Given the description of an element on the screen output the (x, y) to click on. 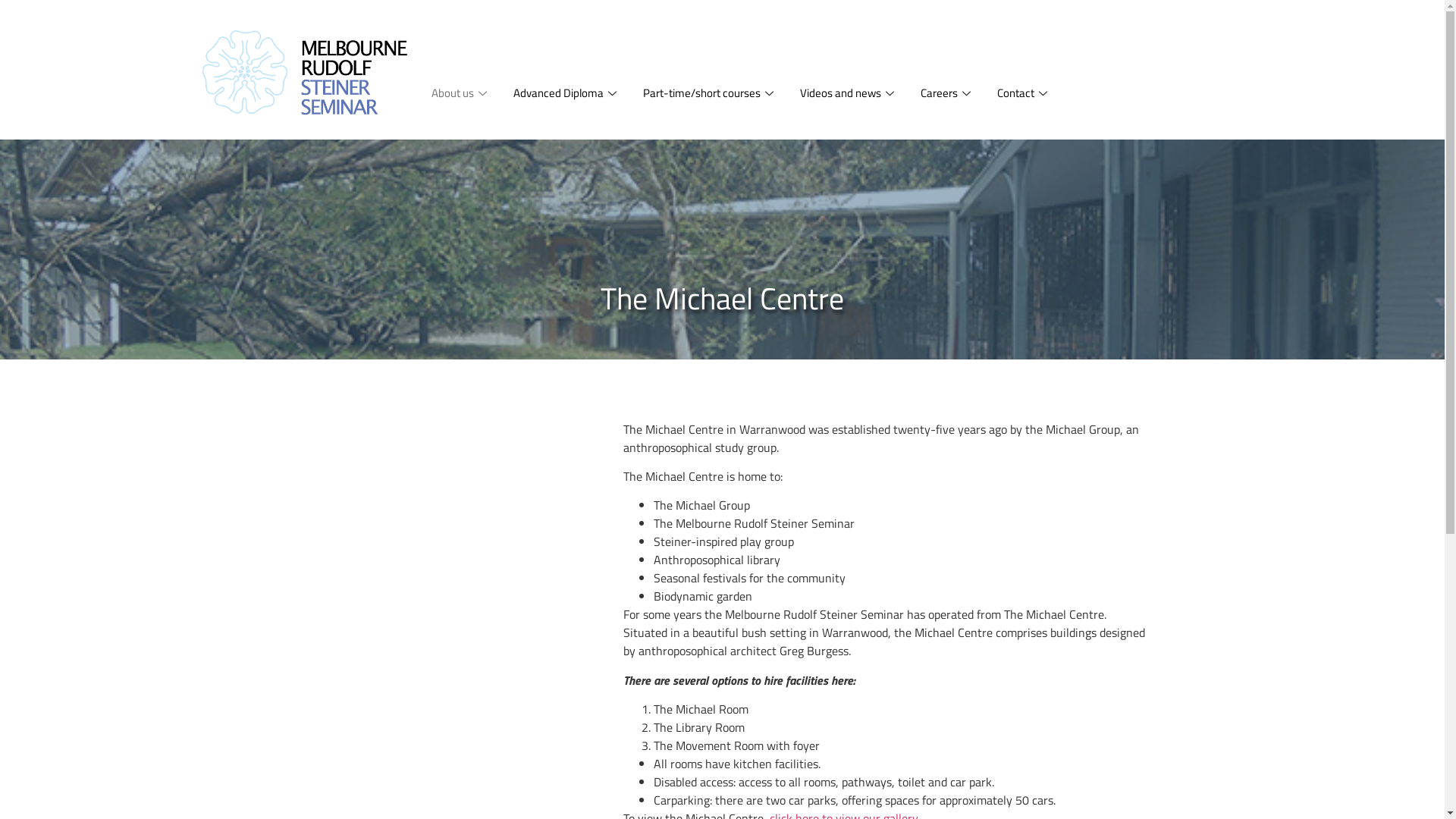
About us Element type: text (461, 93)
Careers Element type: text (946, 93)
Part-time/short courses Element type: text (708, 93)
Contact Element type: text (1023, 93)
Advanced Diploma Element type: text (566, 93)
Videos and news Element type: text (848, 93)
